Given the description of an element on the screen output the (x, y) to click on. 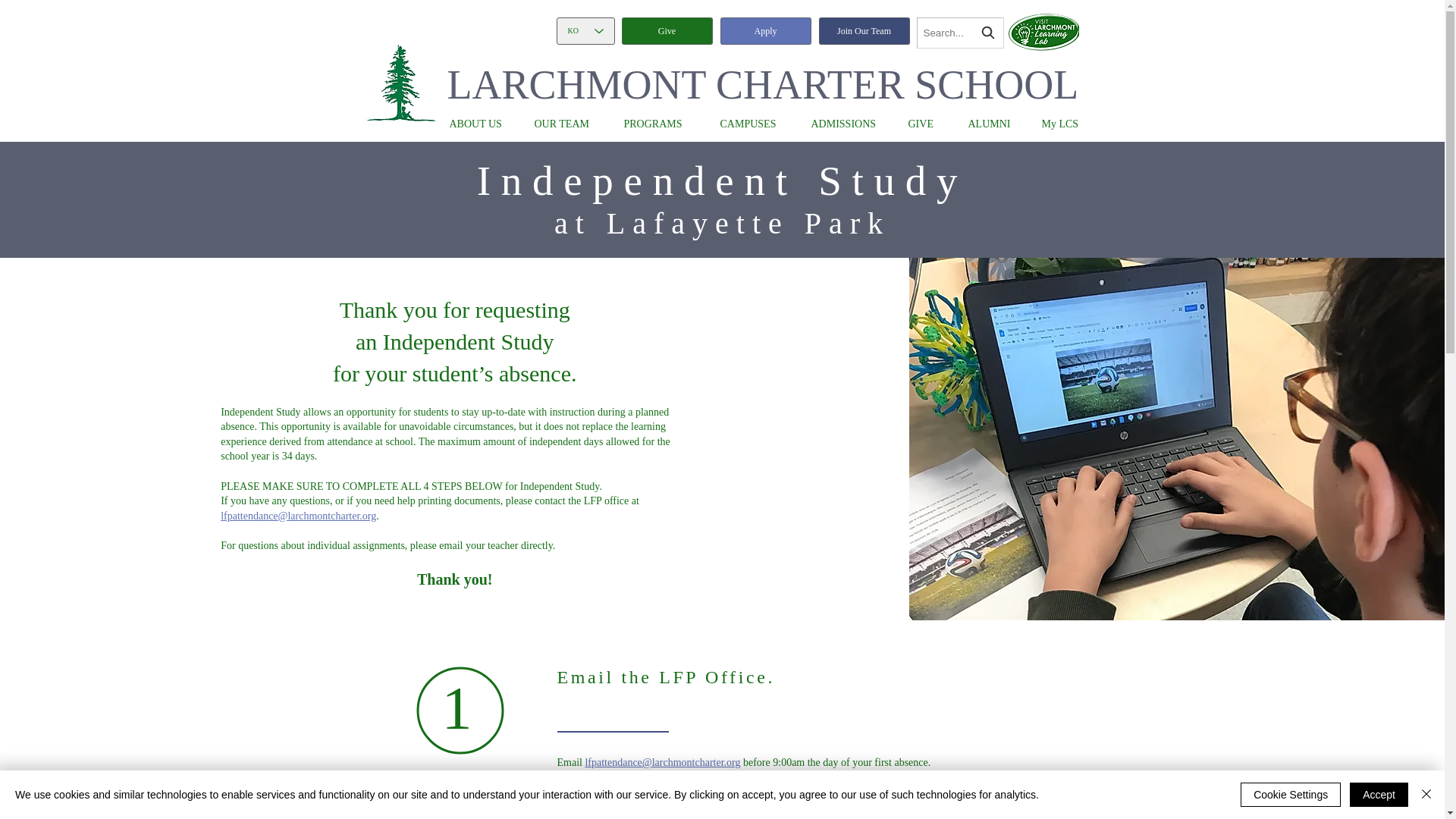
LARCHMONT CHARTER SCHOOL (762, 84)
ALUMNI (992, 124)
GIVE (926, 124)
Home Page (400, 81)
Apply (765, 31)
ADMISSIONS (847, 124)
Join Our Team (864, 31)
